Given the description of an element on the screen output the (x, y) to click on. 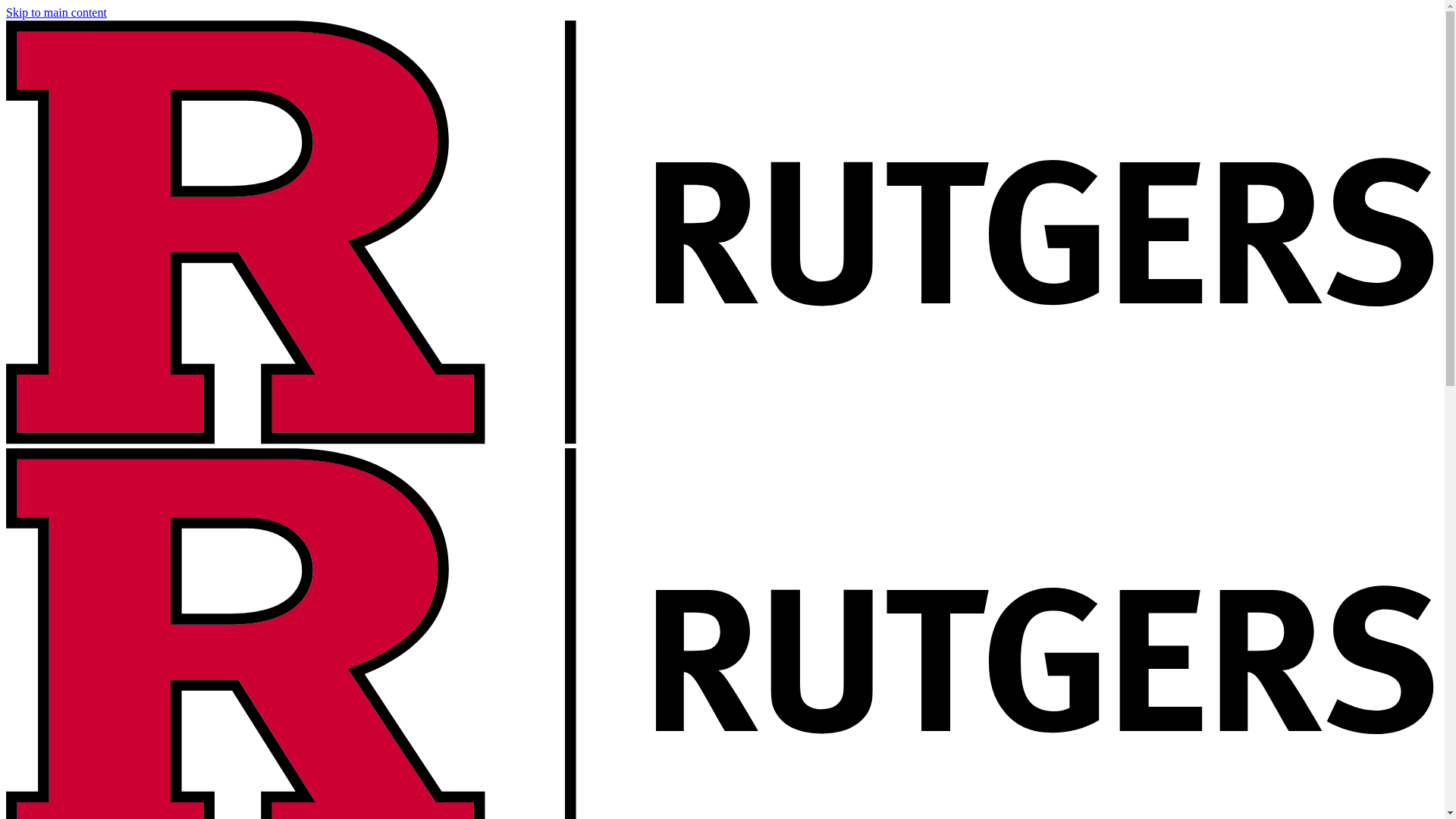
Skip to main content (55, 11)
